Given the description of an element on the screen output the (x, y) to click on. 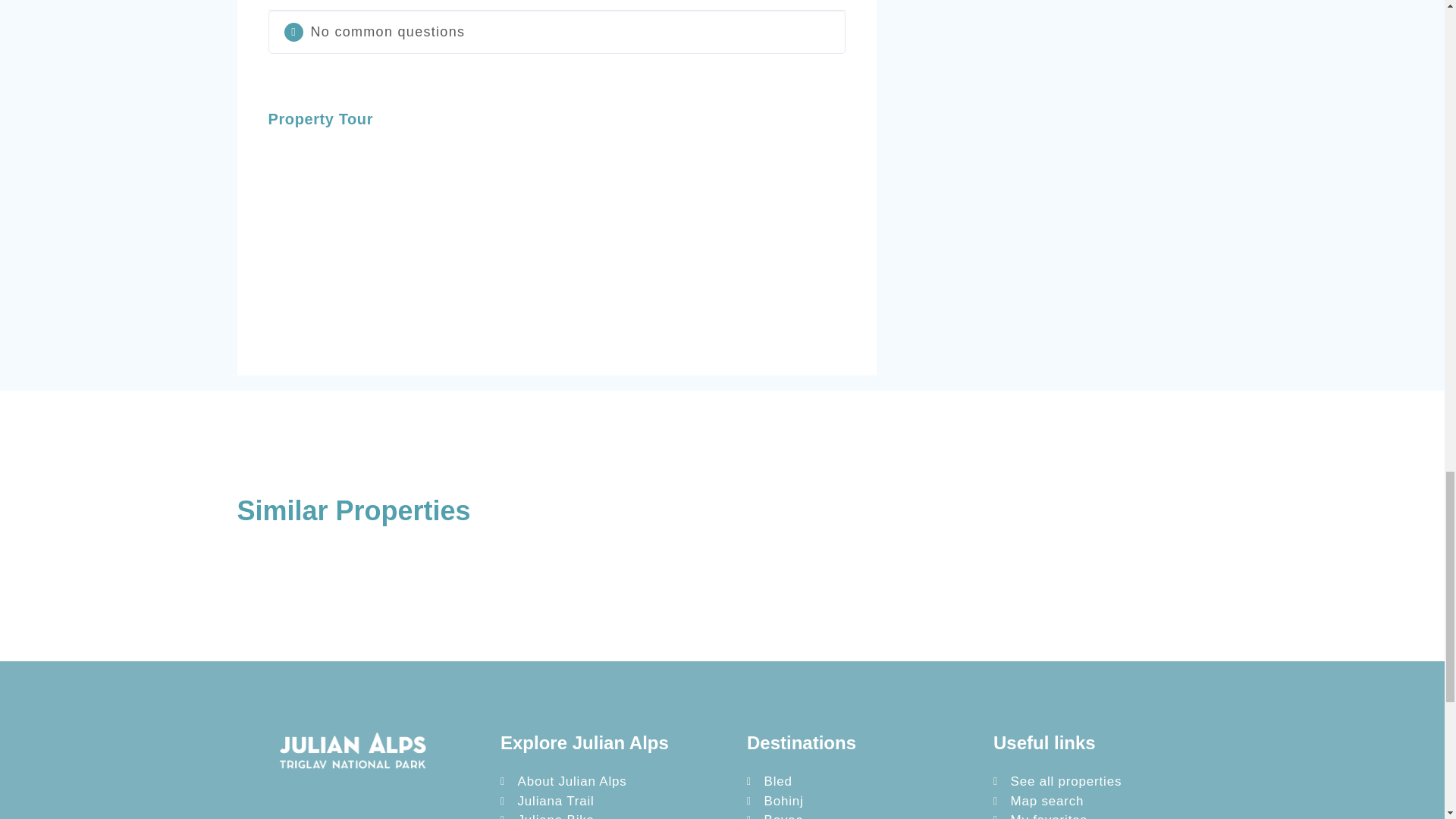
Map search (1103, 801)
See all properties (1103, 781)
Bovec (857, 814)
About Julian Alps (611, 781)
Bled (857, 781)
Bohinj (857, 801)
Juliana Bike (611, 814)
Juliana Trail (611, 801)
